Given the description of an element on the screen output the (x, y) to click on. 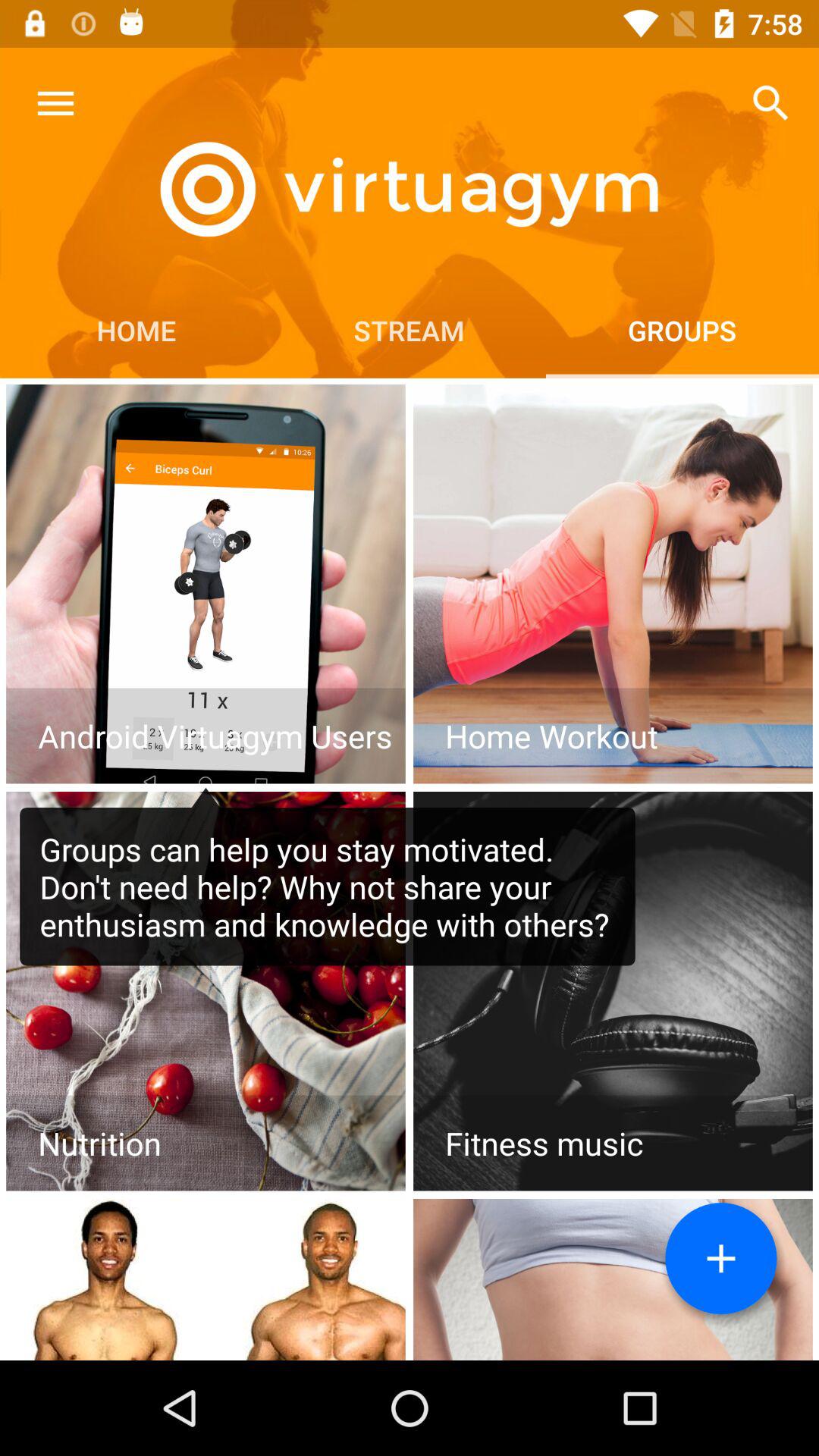
go to fitness music (612, 990)
